Given the description of an element on the screen output the (x, y) to click on. 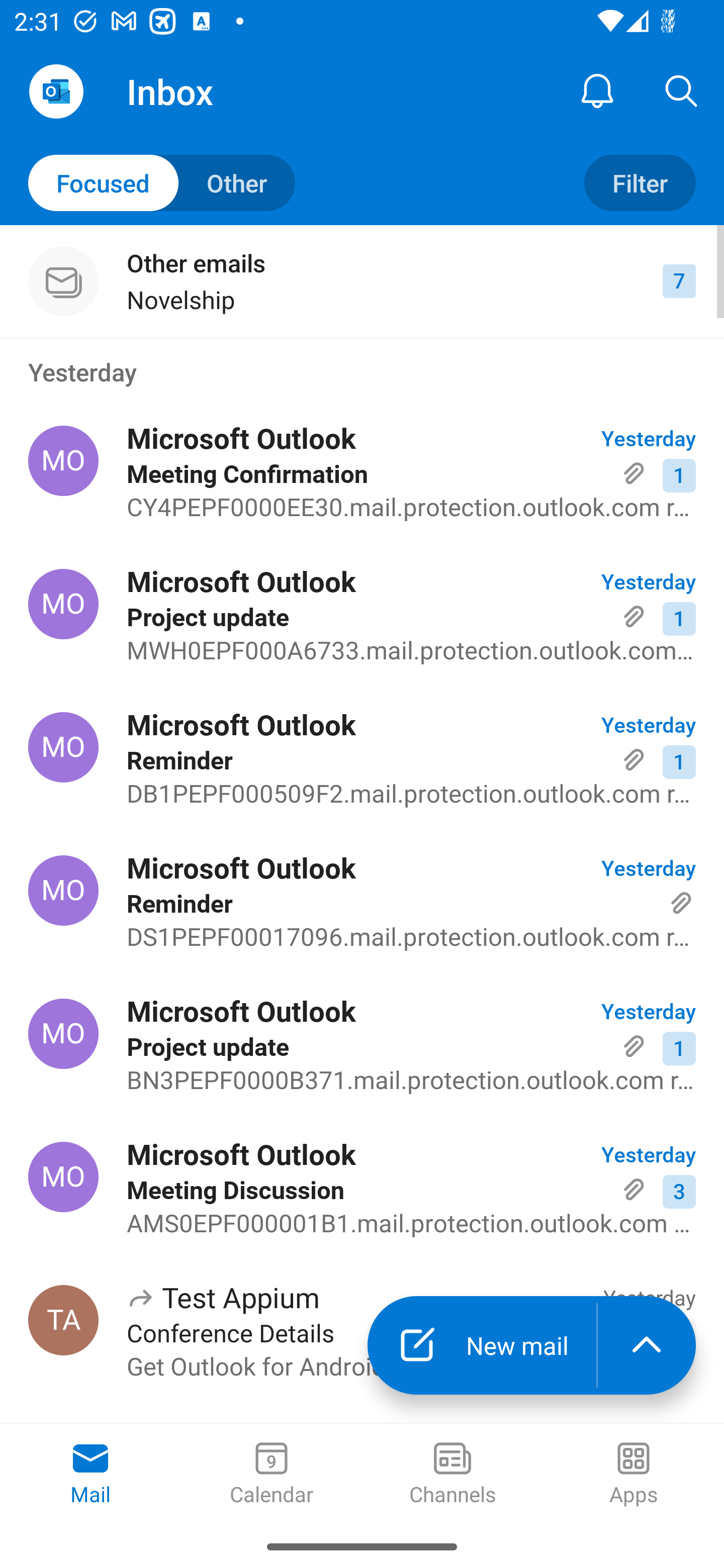
Notification Center (597, 90)
Search, ,  (681, 90)
Open Navigation Drawer (55, 91)
Toggle to other mails (161, 183)
Filter (639, 183)
Other emails Novelship 7 (362, 281)
Test Appium, testappium002@outlook.com (63, 1319)
New mail (481, 1344)
launch the extended action menu (646, 1344)
Calendar (271, 1474)
Channels (452, 1474)
Apps (633, 1474)
